Given the description of an element on the screen output the (x, y) to click on. 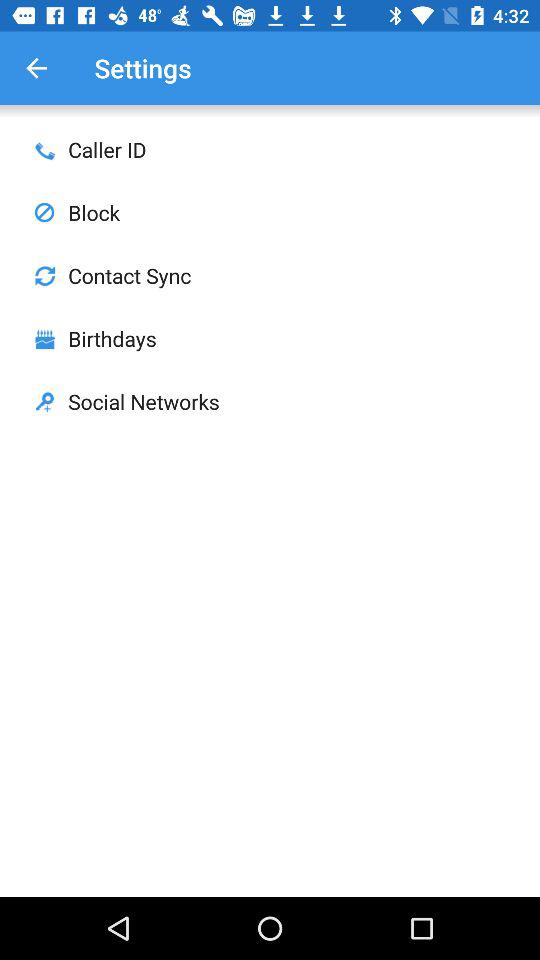
select the caller id icon (44, 150)
